Given the description of an element on the screen output the (x, y) to click on. 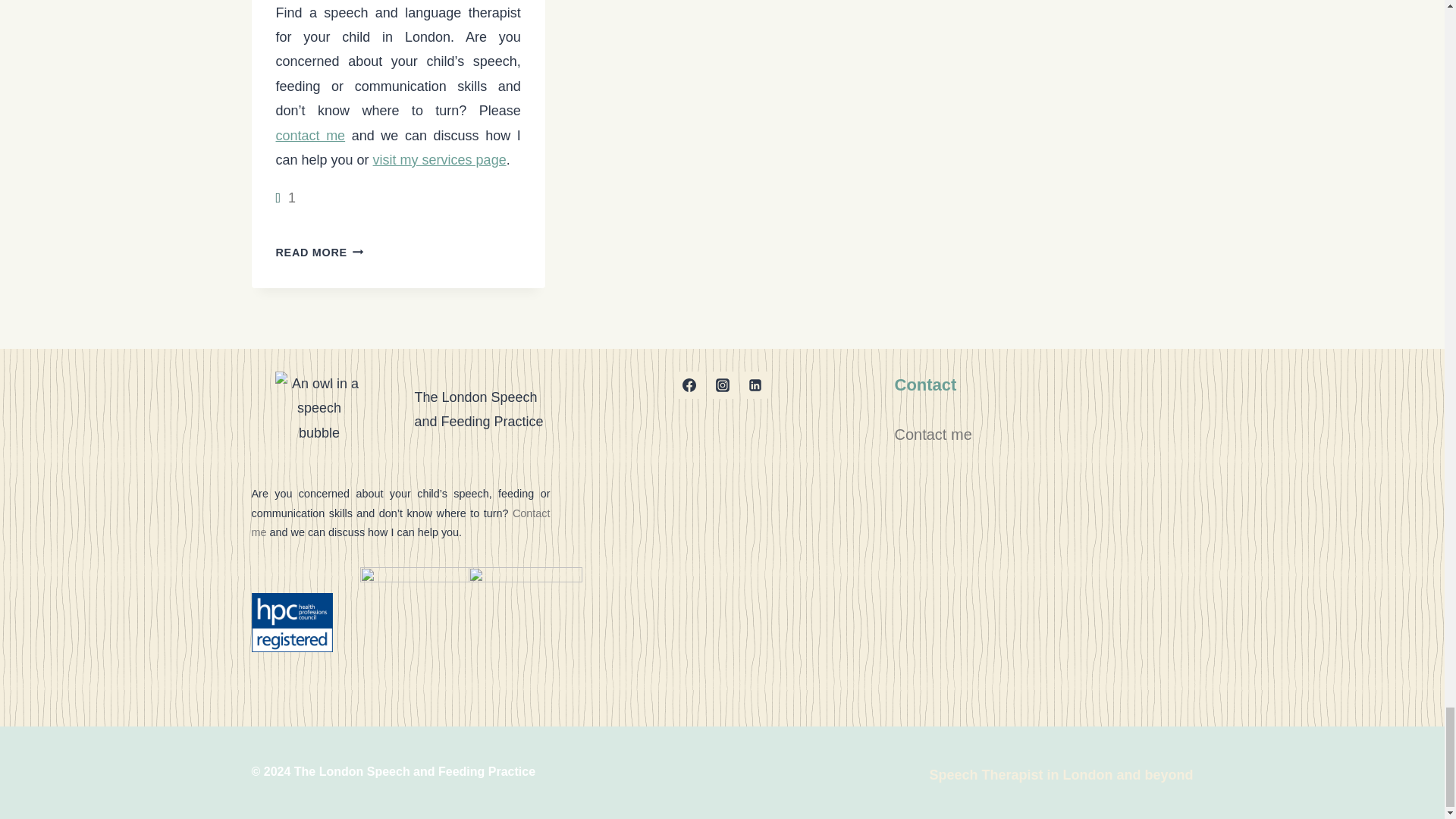
contact me (311, 135)
Contact me (400, 522)
Contact me (933, 434)
Services (439, 159)
Contact me (311, 135)
visit my services page (439, 159)
